Given the description of an element on the screen output the (x, y) to click on. 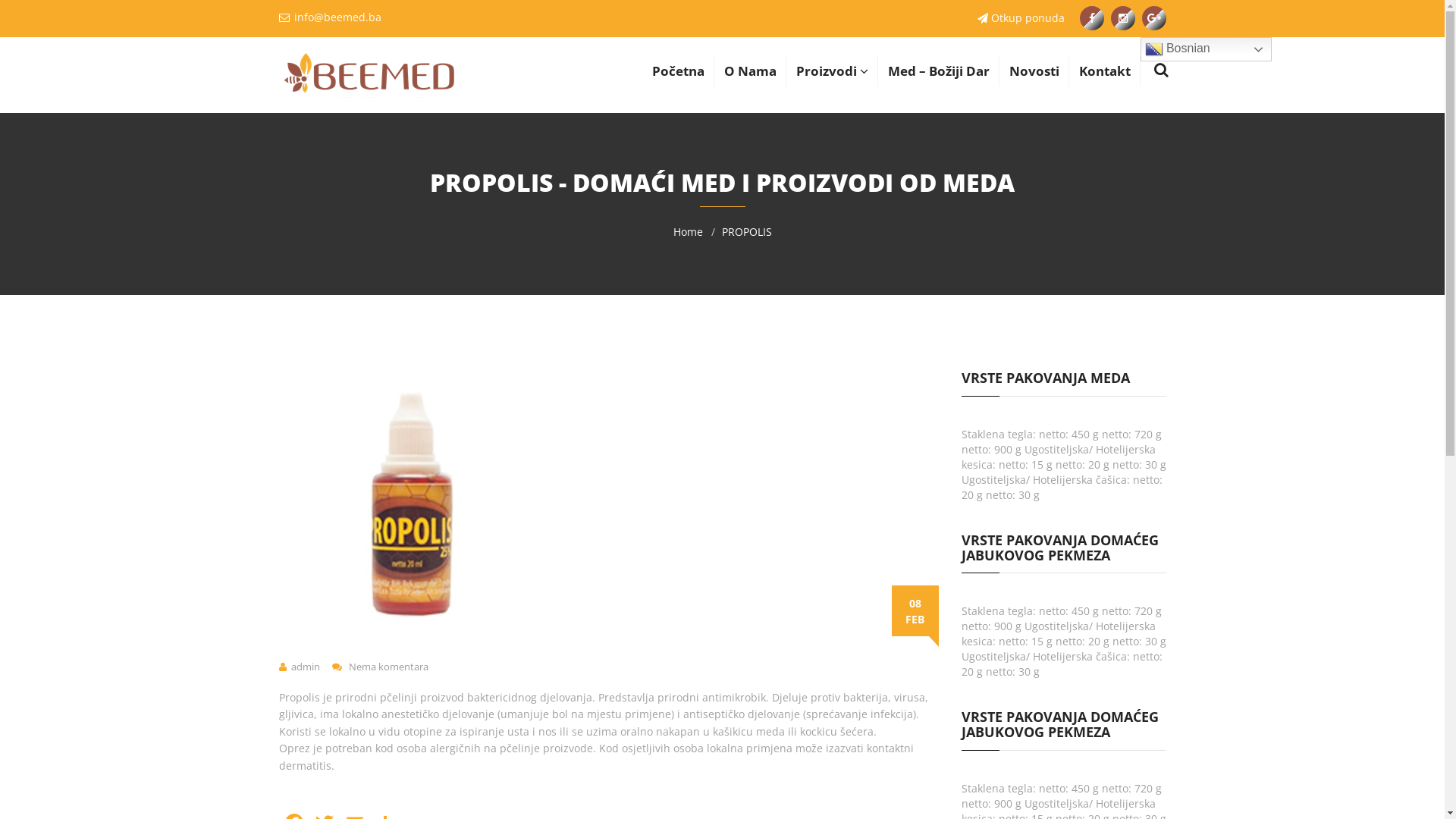
Novosti Element type: text (1034, 71)
Kontakt Element type: text (1104, 71)
Proizvodi Element type: text (831, 71)
O Nama Element type: text (750, 71)
Home Element type: text (687, 231)
info@beemed.ba Element type: text (330, 17)
admin Element type: text (305, 666)
Otkup ponuda Element type: text (1019, 17)
Bosnian Element type: text (1205, 49)
